Given the description of an element on the screen output the (x, y) to click on. 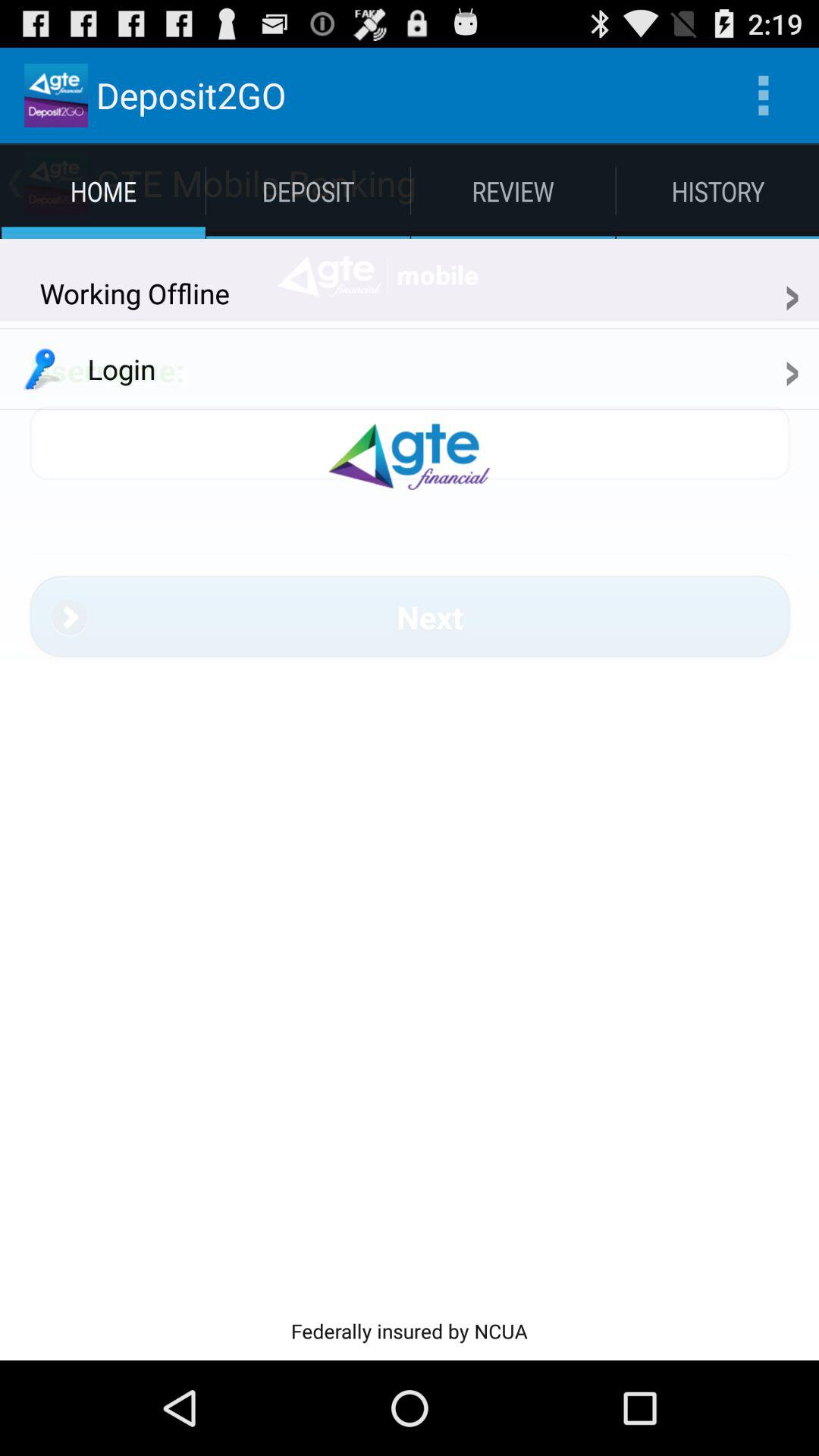
select home (103, 190)
